Given the description of an element on the screen output the (x, y) to click on. 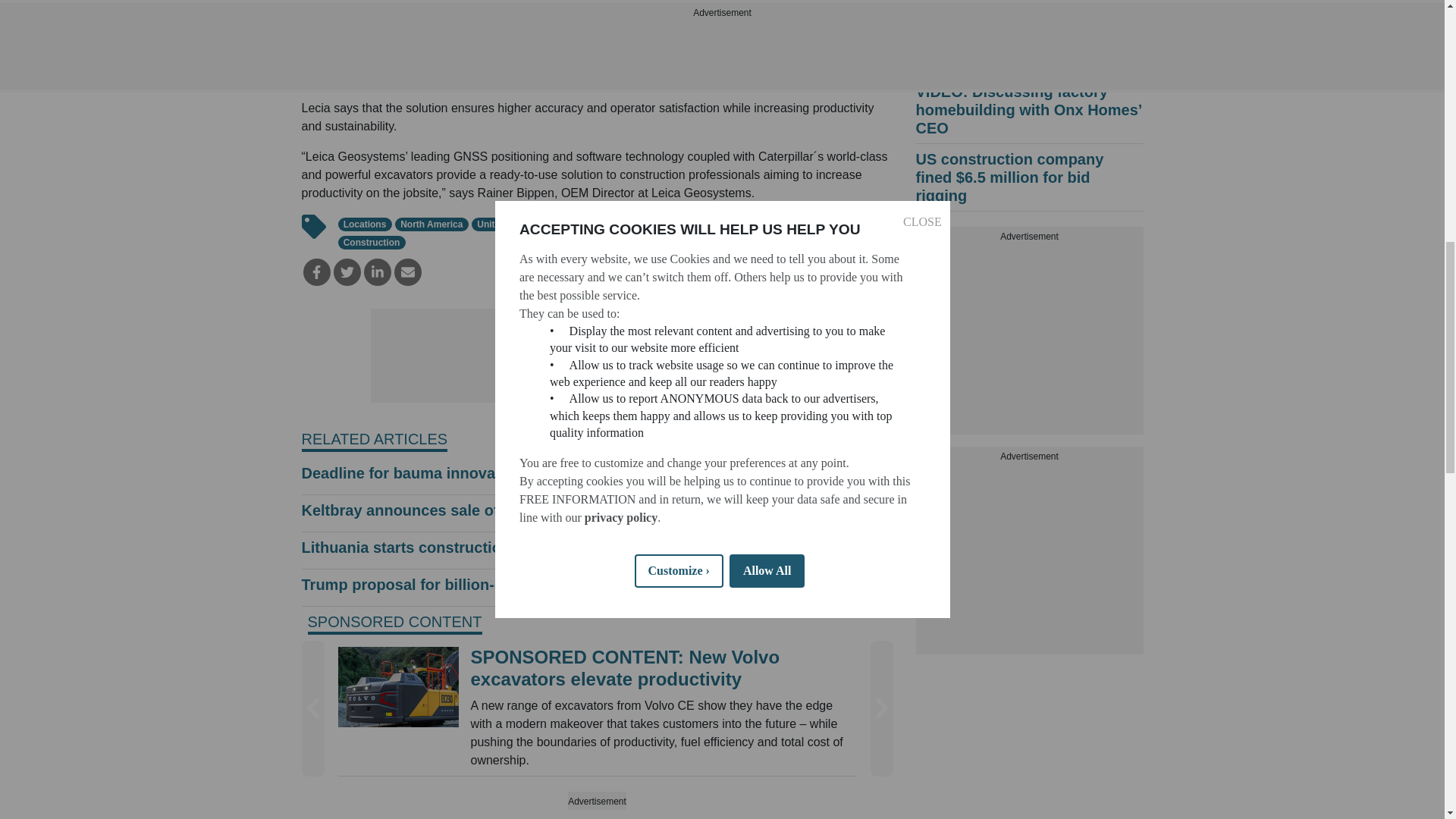
Share this page on Twitter (347, 271)
privacy policy (619, 39)
Share this page on Facebook (316, 271)
Share this page via email (408, 271)
3rd party ad content (1028, 339)
Share this page on Linkedin (377, 271)
3rd party ad content (596, 364)
Allow All (767, 41)
3rd party ad content (1028, 559)
